Given the description of an element on the screen output the (x, y) to click on. 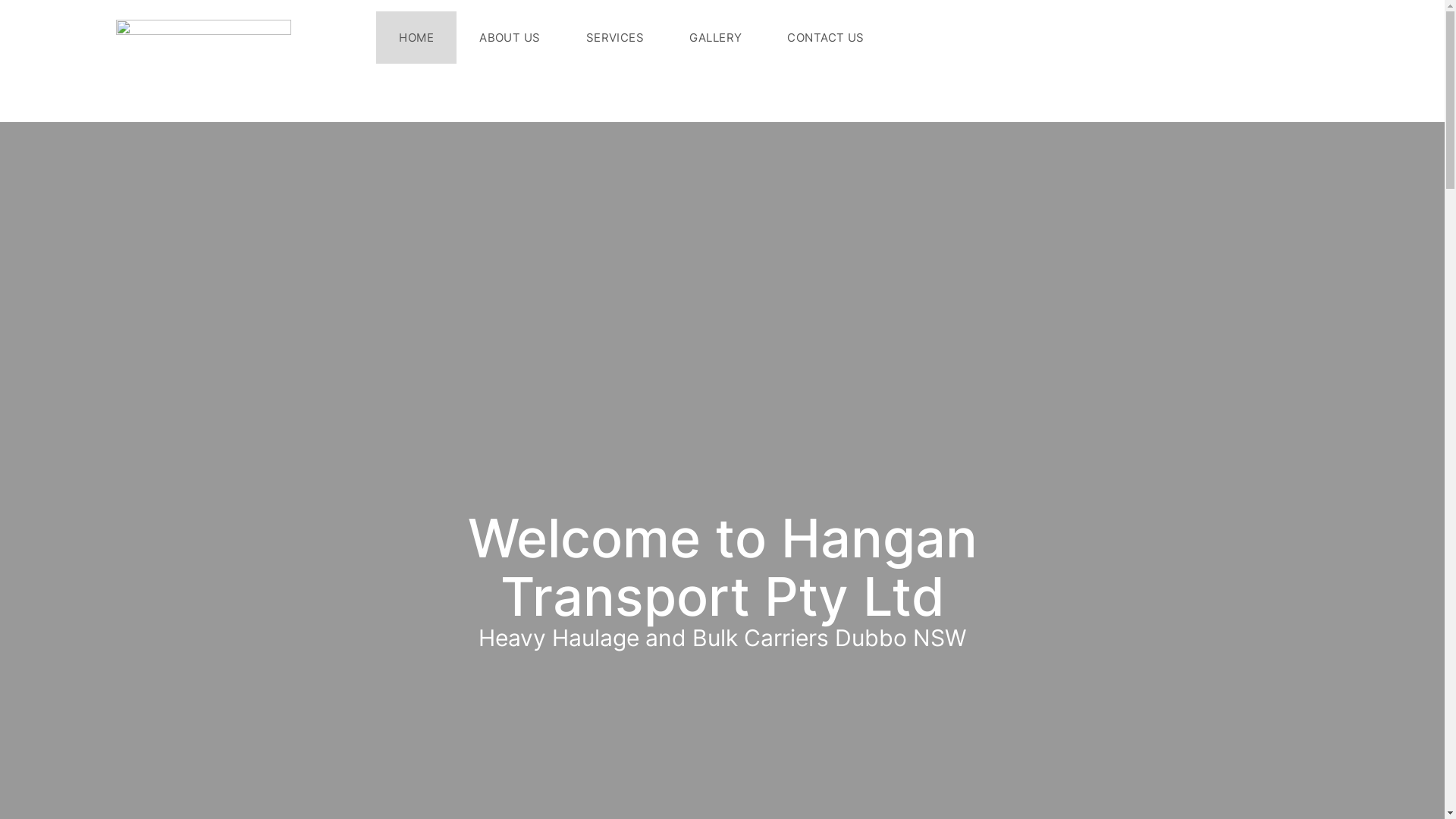
SERVICES Element type: text (615, 36)
HOME Element type: text (416, 36)
GALLERY Element type: text (715, 36)
ABOUT US Element type: text (509, 36)
CONTACT US Element type: text (825, 36)
